Given the description of an element on the screen output the (x, y) to click on. 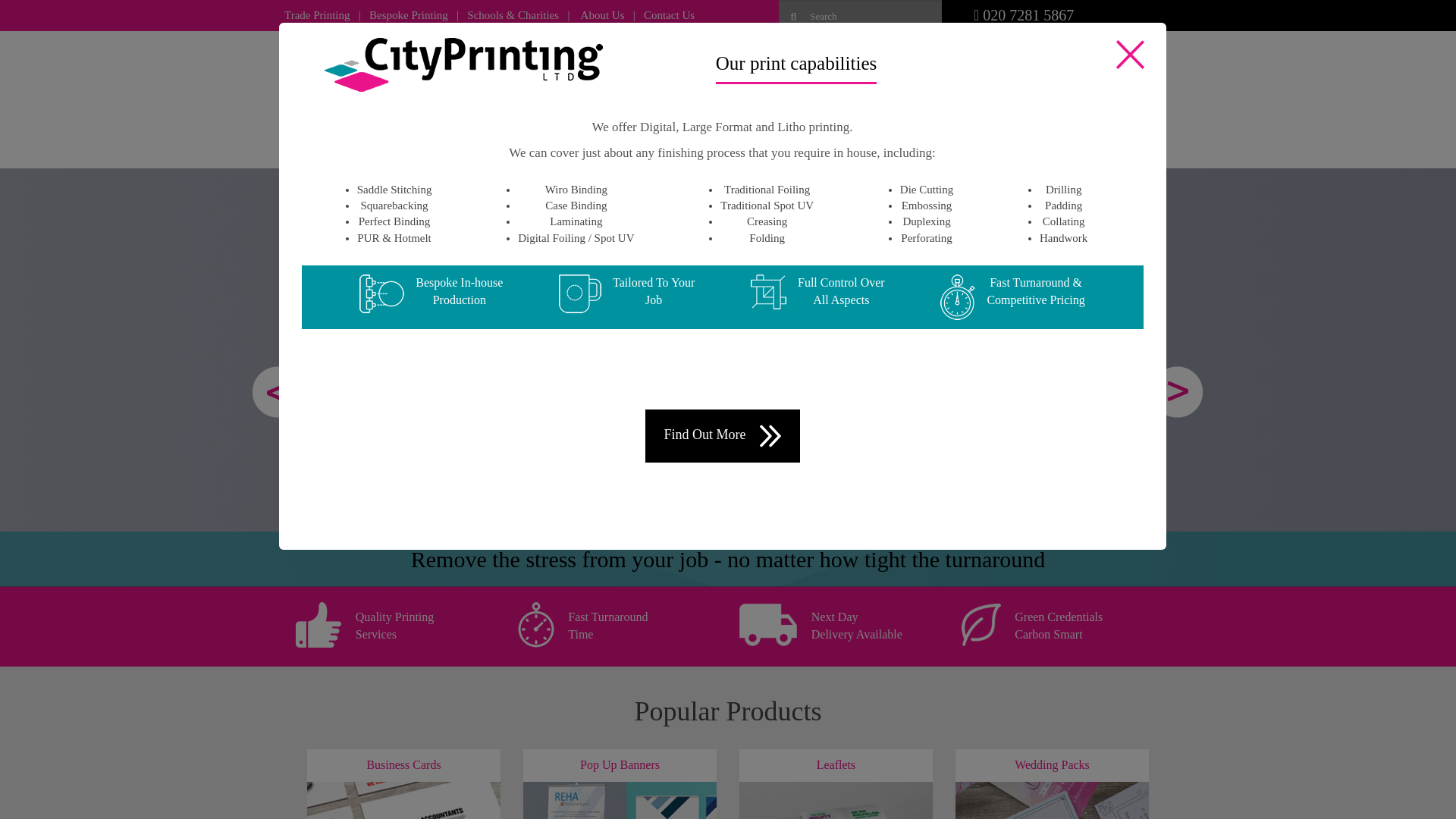
020 7281 5867 (1024, 14)
Trade Printing (316, 15)
About Us (603, 15)
Bespoke Printing (408, 15)
All Products (360, 133)
Contact Us (668, 15)
